Given the description of an element on the screen output the (x, y) to click on. 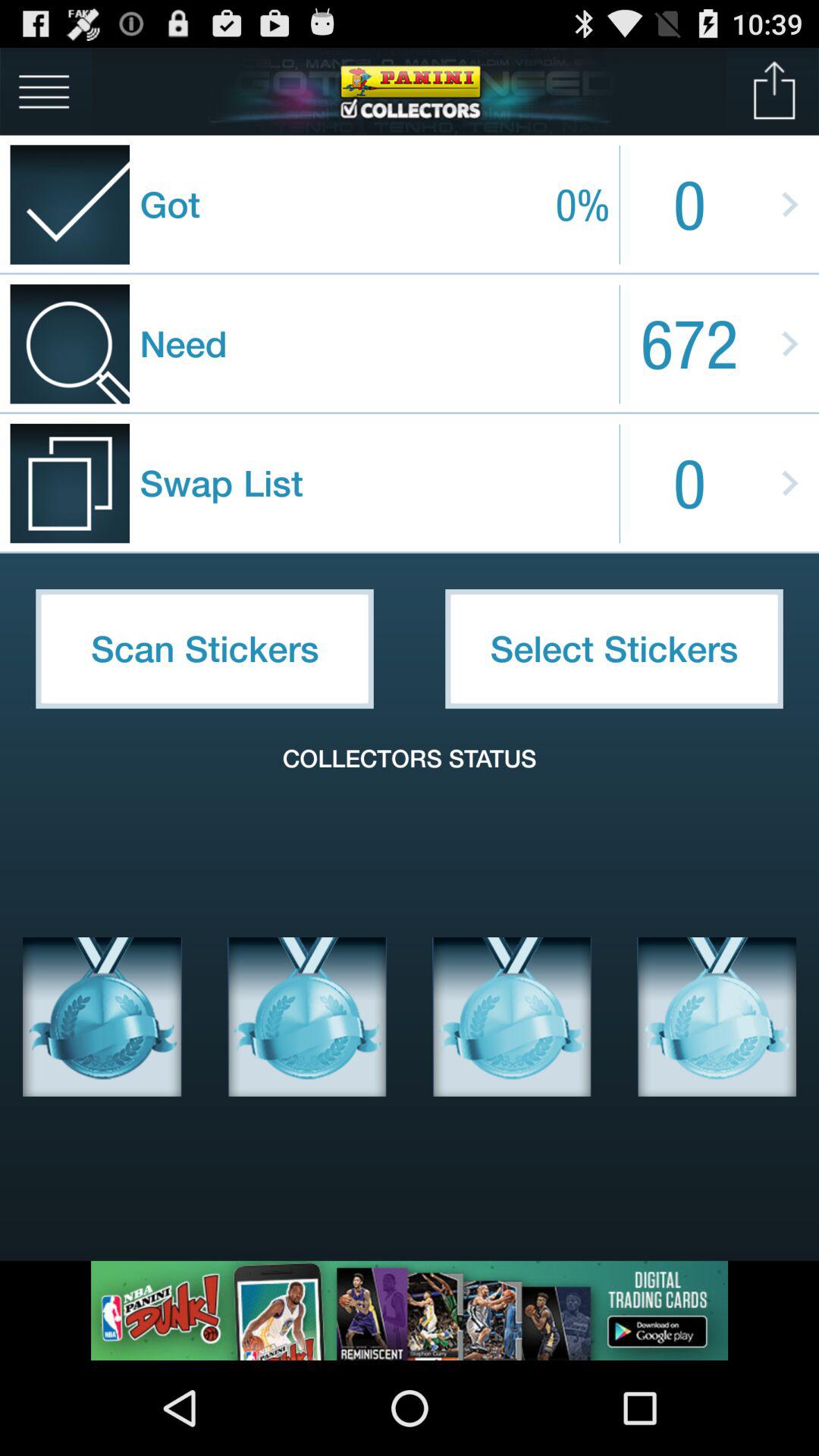
select sticker (102, 1016)
